Given the description of an element on the screen output the (x, y) to click on. 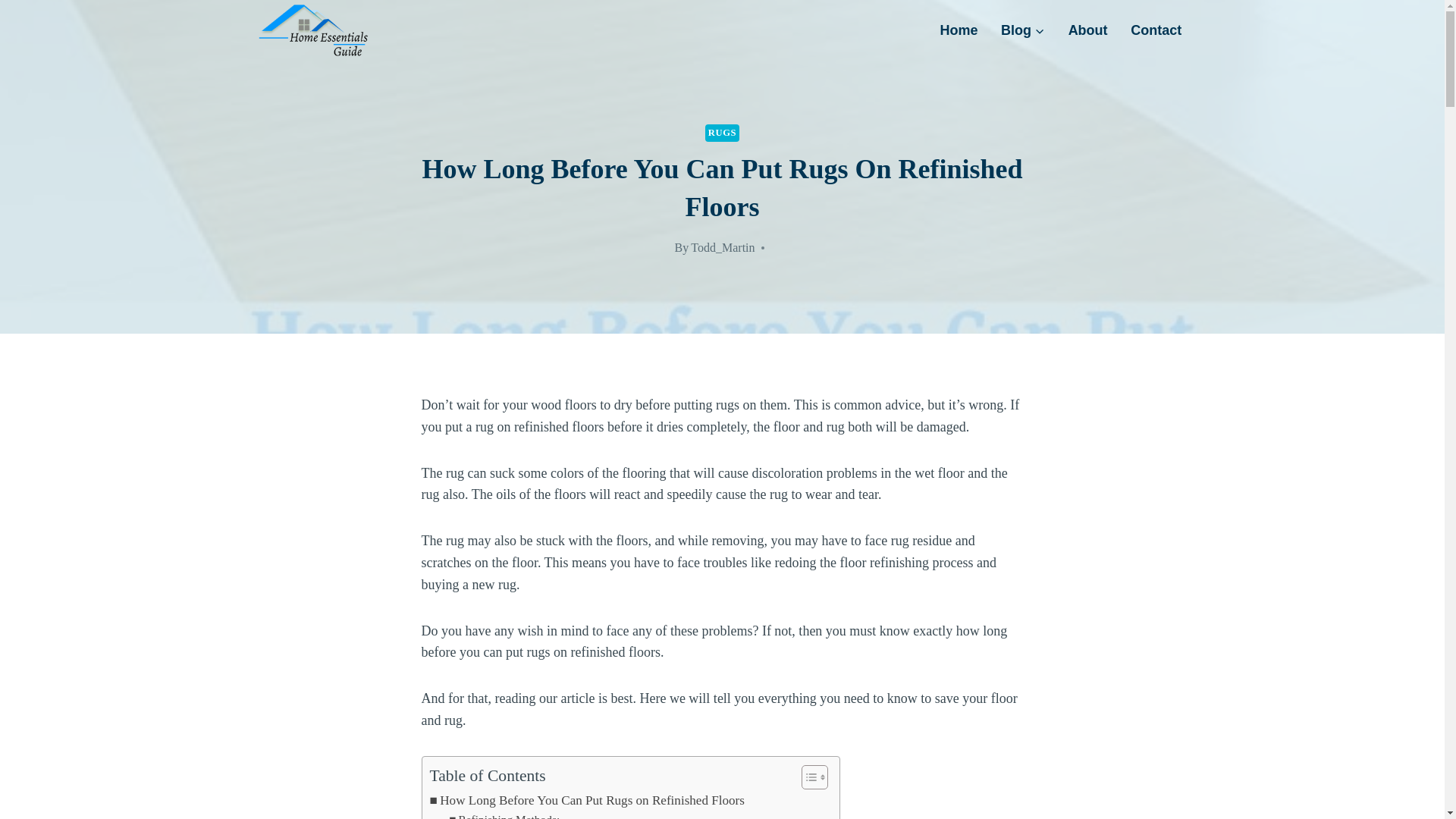
Contact (1156, 30)
Refinishing Methods: (503, 814)
How Long Before You Can Put Rugs on Refinished Floors (586, 800)
Home (959, 30)
Refinishing Methods: (503, 814)
Blog (1023, 30)
How Long Before You Can Put Rugs on Refinished Floors (586, 800)
About (1088, 30)
RUGS (721, 132)
